Given the description of an element on the screen output the (x, y) to click on. 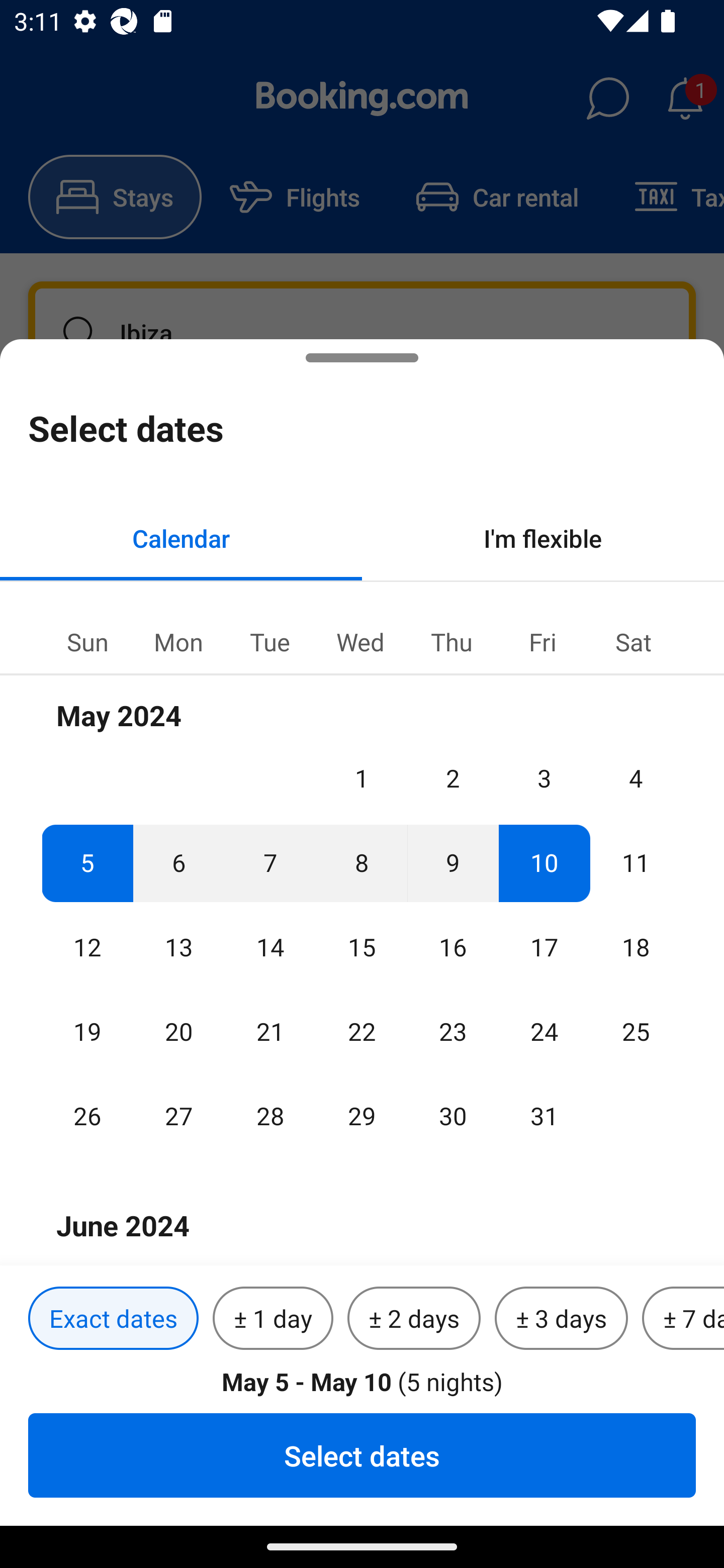
I'm flexible (543, 537)
Exact dates (113, 1318)
± 1 day (272, 1318)
± 2 days (413, 1318)
± 3 days (560, 1318)
± 7 days (683, 1318)
Select dates (361, 1454)
